Given the description of an element on the screen output the (x, y) to click on. 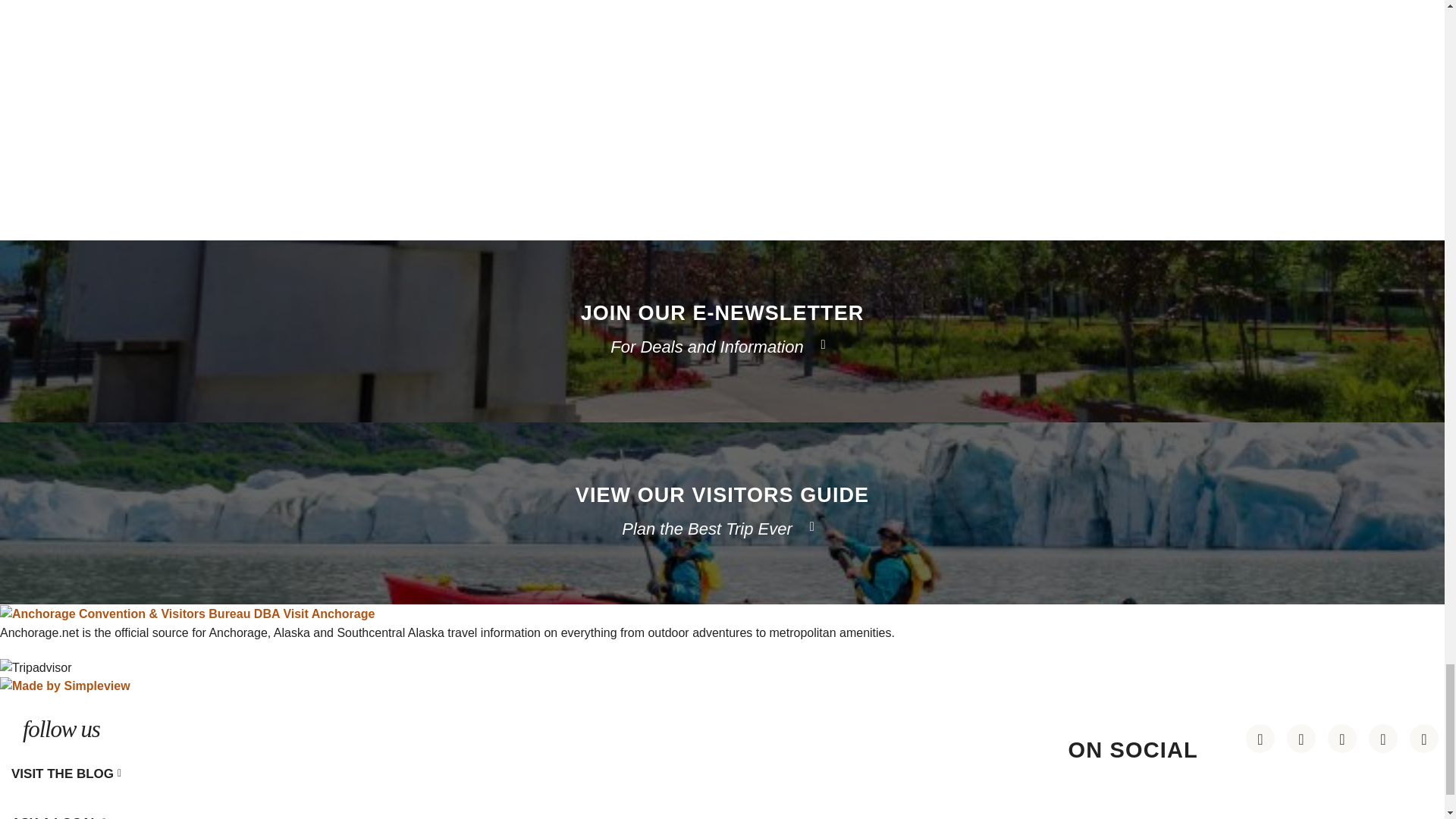
Visit our facebook page (1382, 737)
Visit our twitter page (1423, 737)
Visit our pinterest page (1260, 737)
Visit our youtube page (1341, 737)
Visit our instagram page (1301, 737)
